Given the description of an element on the screen output the (x, y) to click on. 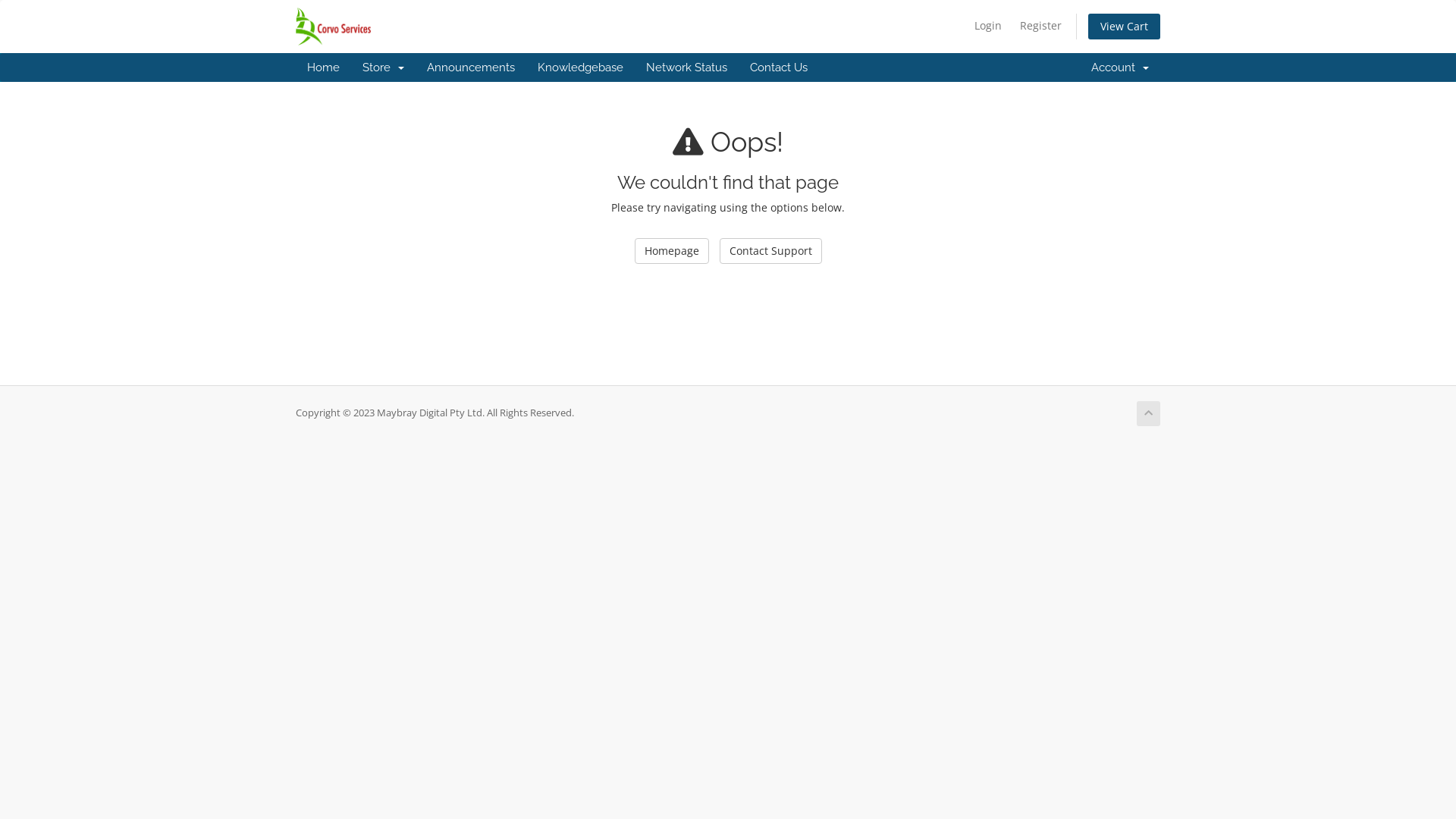
Home Element type: text (323, 67)
Announcements Element type: text (470, 67)
Login Element type: text (987, 25)
Knowledgebase Element type: text (580, 67)
Homepage Element type: text (670, 250)
Network Status Element type: text (686, 67)
Account   Element type: text (1119, 67)
Contact Us Element type: text (778, 67)
View Cart Element type: text (1124, 26)
Register Element type: text (1040, 25)
Store   Element type: text (383, 67)
Contact Support Element type: text (769, 250)
